Given the description of an element on the screen output the (x, y) to click on. 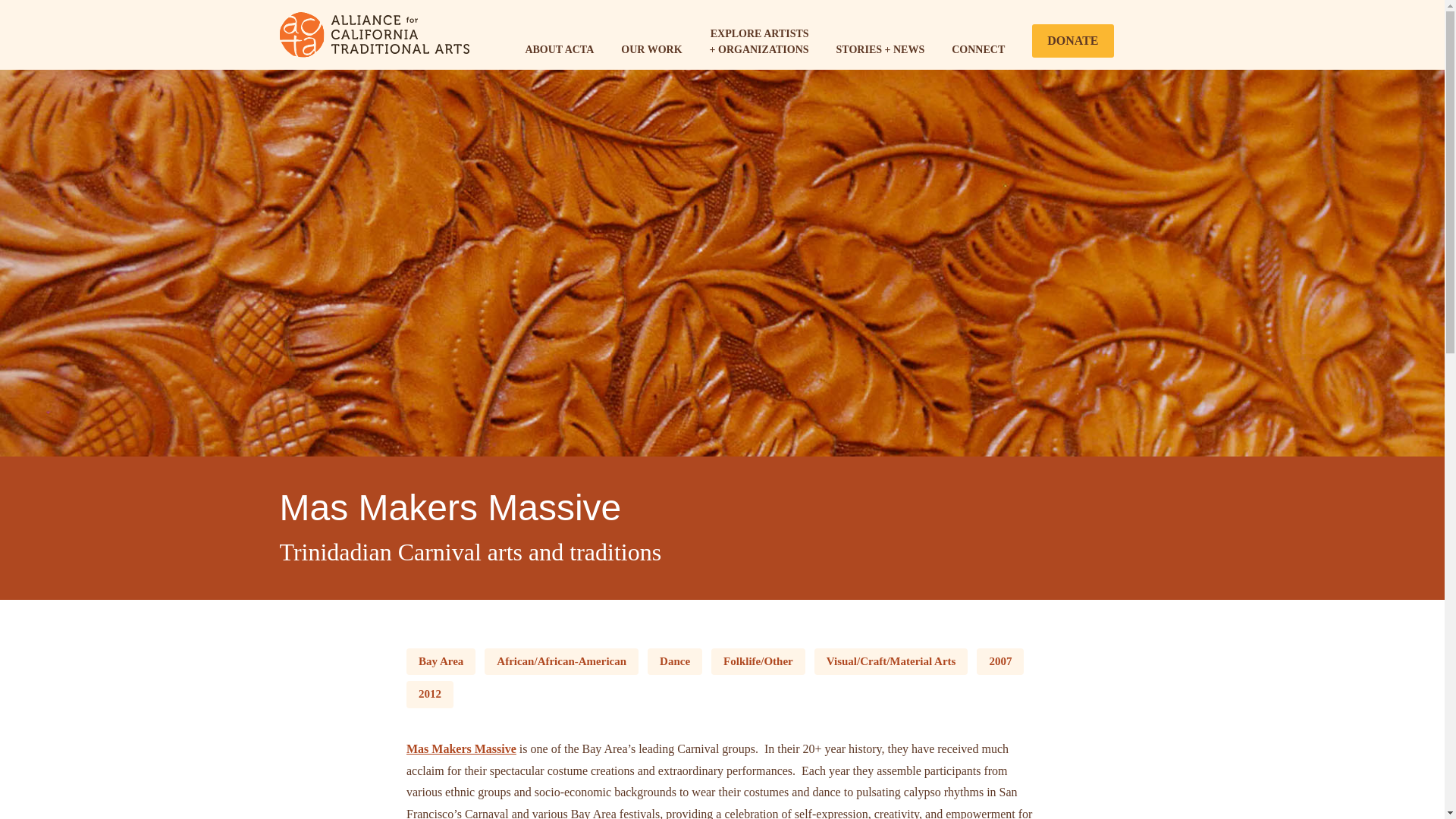
SEARCH (1146, 39)
Home (373, 33)
OUR WORK (651, 49)
CONNECT (978, 49)
ABOUT ACTA (559, 49)
DONATE (1072, 40)
Skip to main content (644, 3)
